Given the description of an element on the screen output the (x, y) to click on. 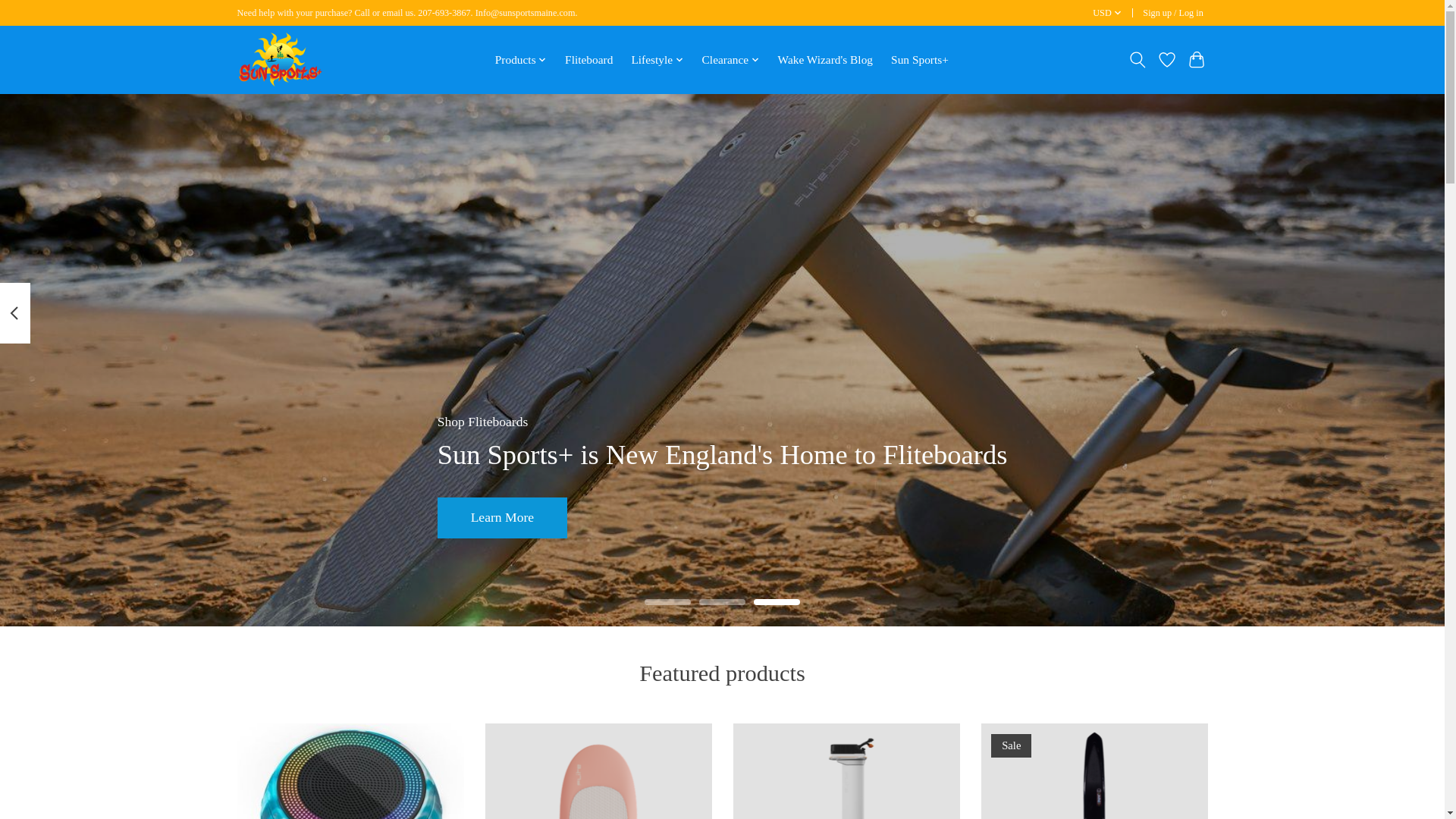
USD (1107, 13)
Products (521, 59)
Flite Board eFoil System Series 3 - Silver 75cm Complete (845, 771)
My account (1173, 13)
Sun Sports (279, 59)
Speaqua The Barnacle X Tidal Blue - NEW (349, 771)
Flite Board 100L Fibreglass - Coral (597, 771)
